Given the description of an element on the screen output the (x, y) to click on. 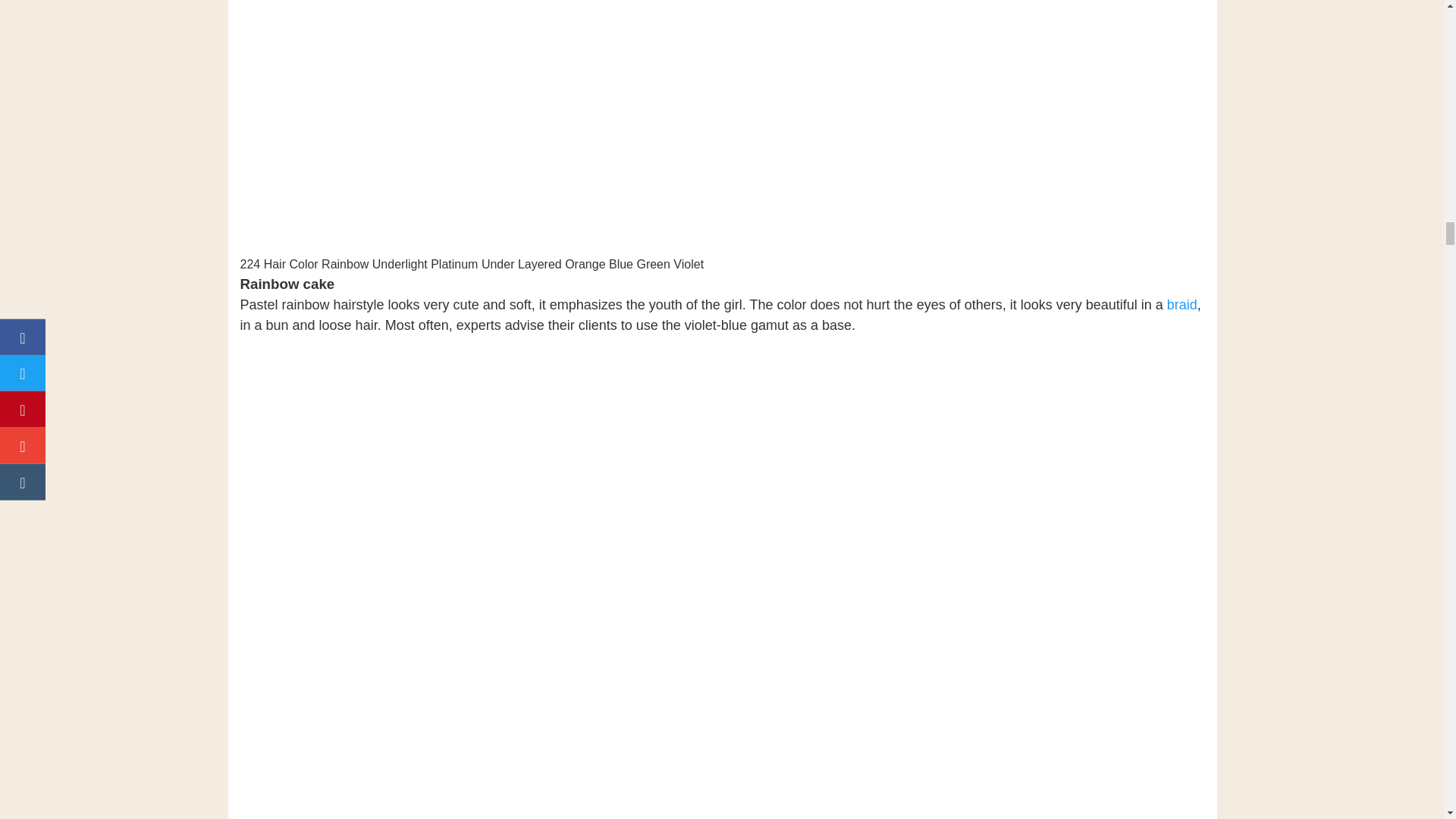
braid (1181, 304)
